Given the description of an element on the screen output the (x, y) to click on. 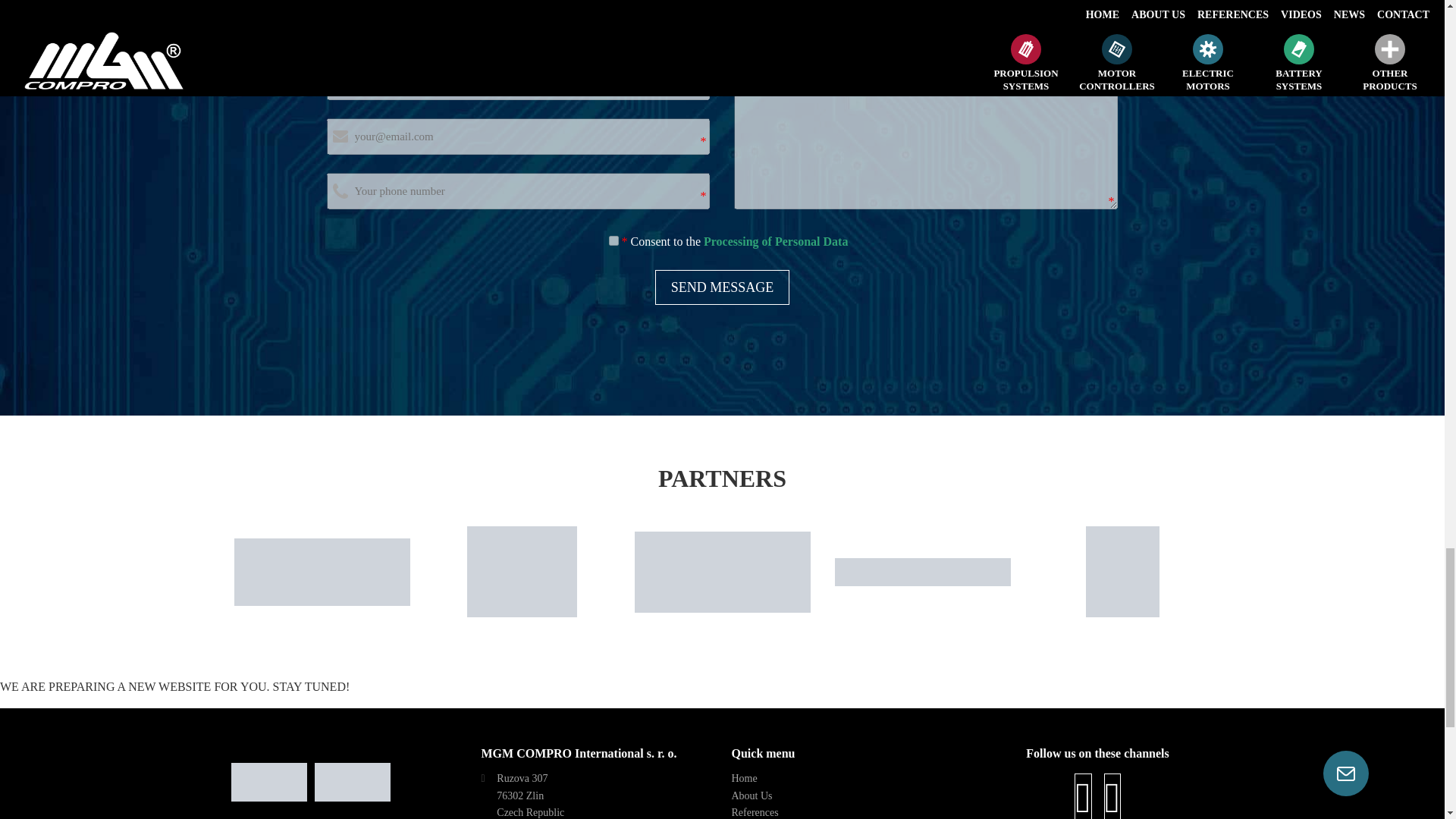
1 (613, 240)
Send message (722, 287)
Home (743, 778)
References (753, 812)
Processing of Personal Data (775, 241)
About Us (750, 795)
Send message (722, 287)
